Given the description of an element on the screen output the (x, y) to click on. 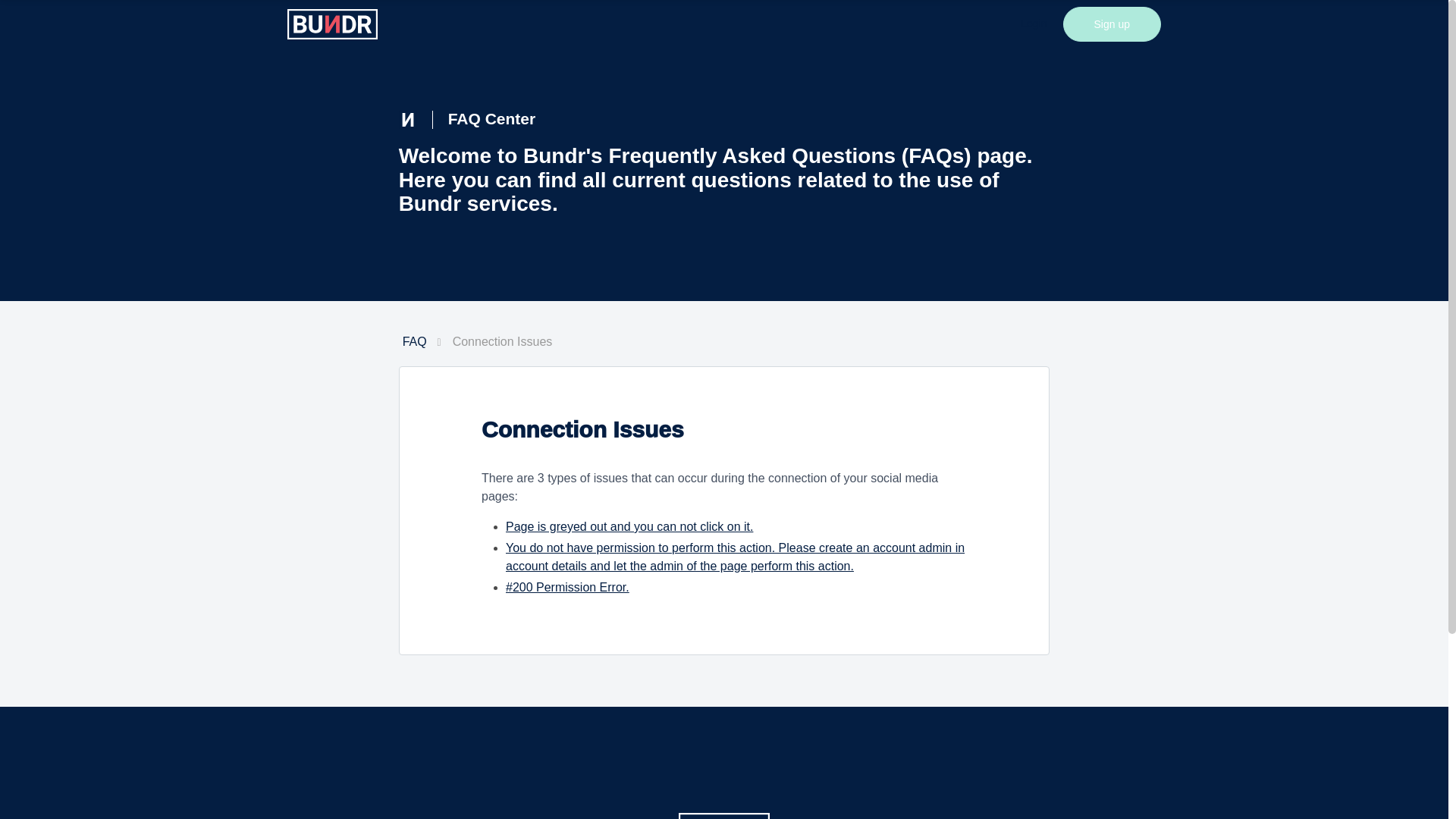
Page is greyed out and you can not click on it. (628, 526)
FAQ (414, 341)
Login (1033, 24)
Sign up (1111, 23)
